Given the description of an element on the screen output the (x, y) to click on. 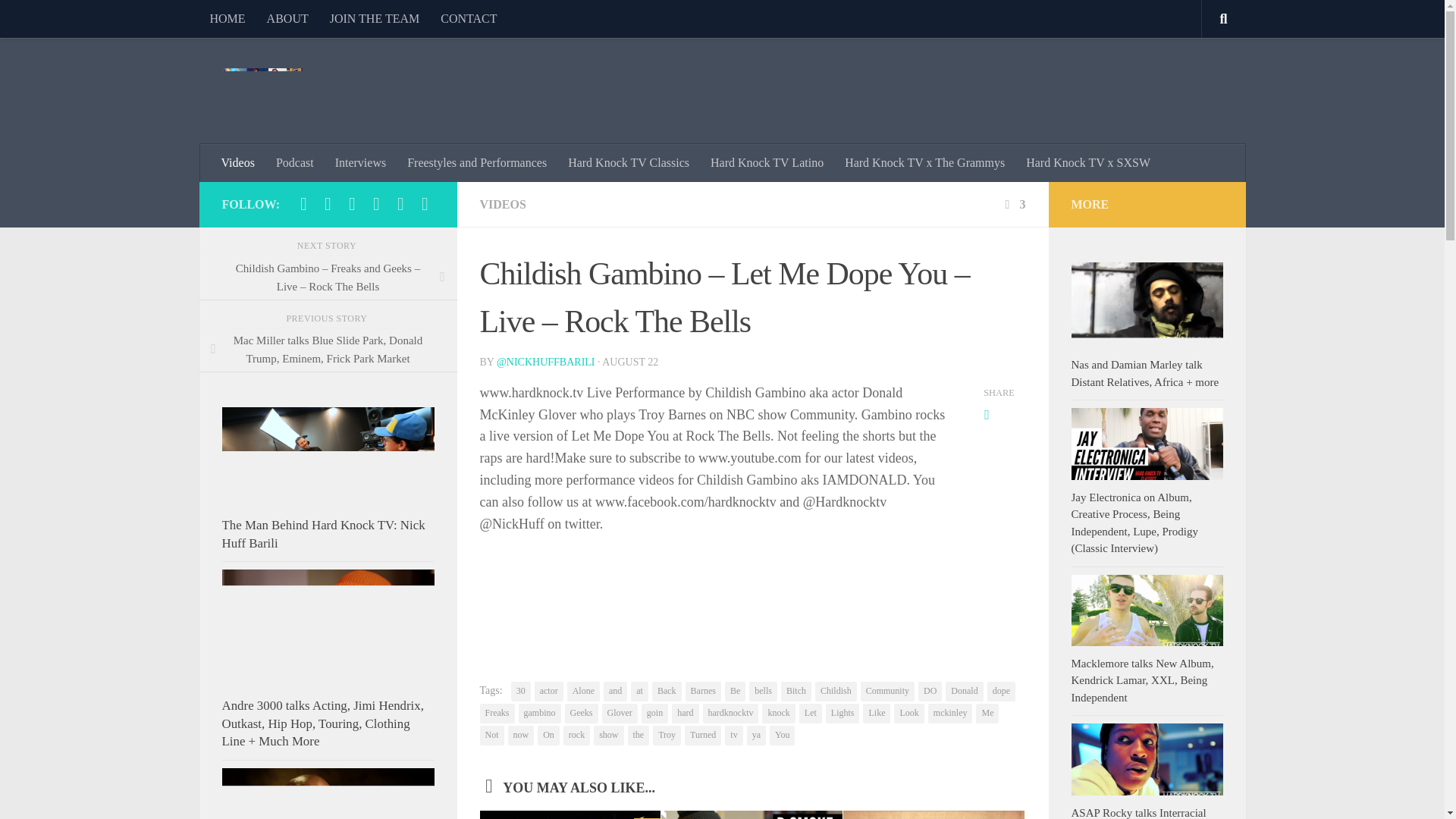
Barnes (702, 691)
Videos (237, 162)
Be (735, 691)
VIDEOS (502, 204)
ABOUT (287, 18)
Follow us on Twitter (375, 203)
Back (666, 691)
Alone (583, 691)
Follow us on Instagram (351, 203)
JOIN THE TEAM (374, 18)
